Given the description of an element on the screen output the (x, y) to click on. 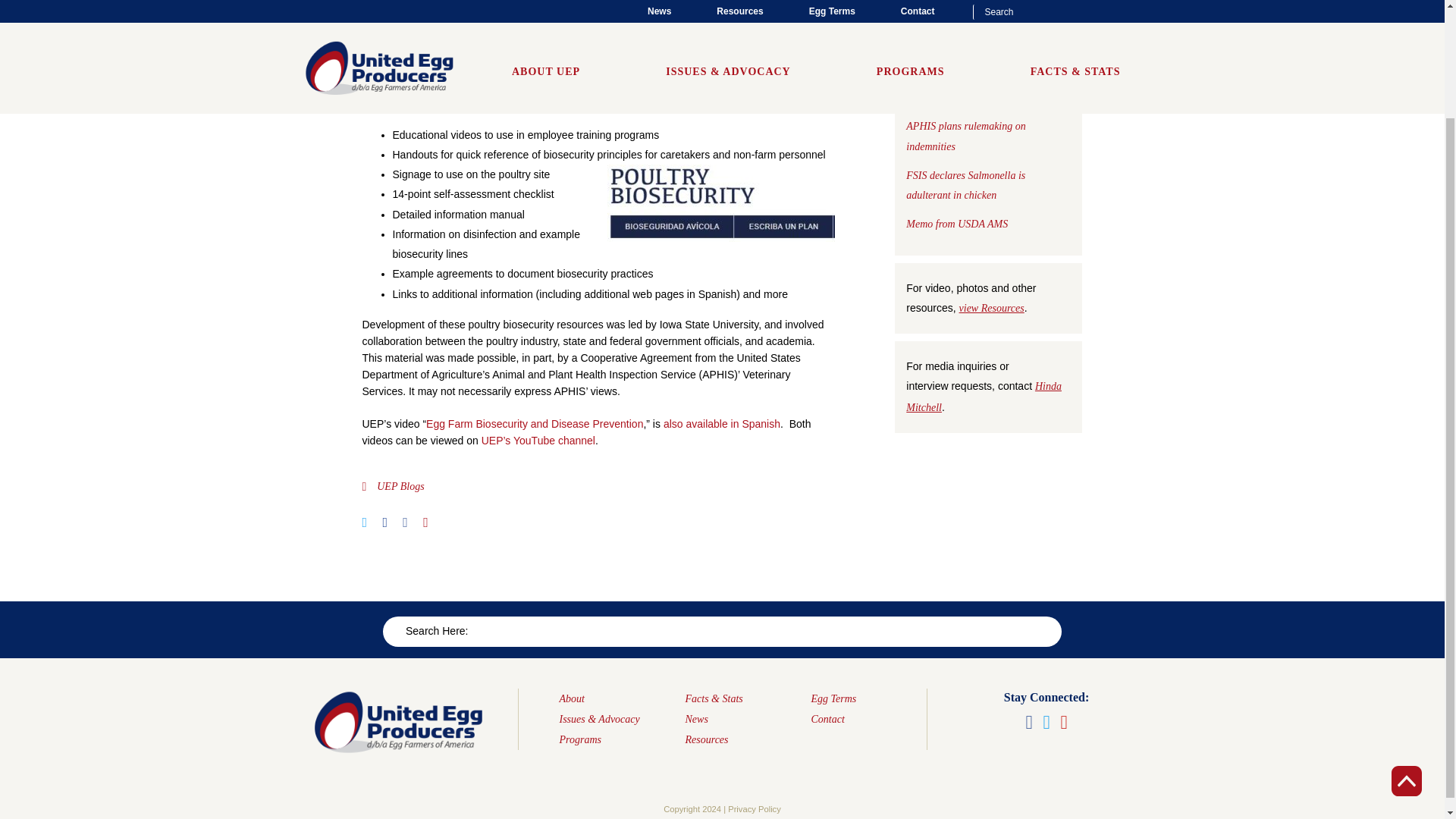
Minnesota drinking water initiatives target agriculture (987, 92)
Spanish (666, 82)
Egg Farm Biosecurity and Disease Prevention (534, 423)
Poultry biosecurity resources (651, 66)
also available in Spanish (721, 423)
UEP Blogs (400, 486)
Biosecurity Standards Now Available in Spanish (540, 5)
